Given the description of an element on the screen output the (x, y) to click on. 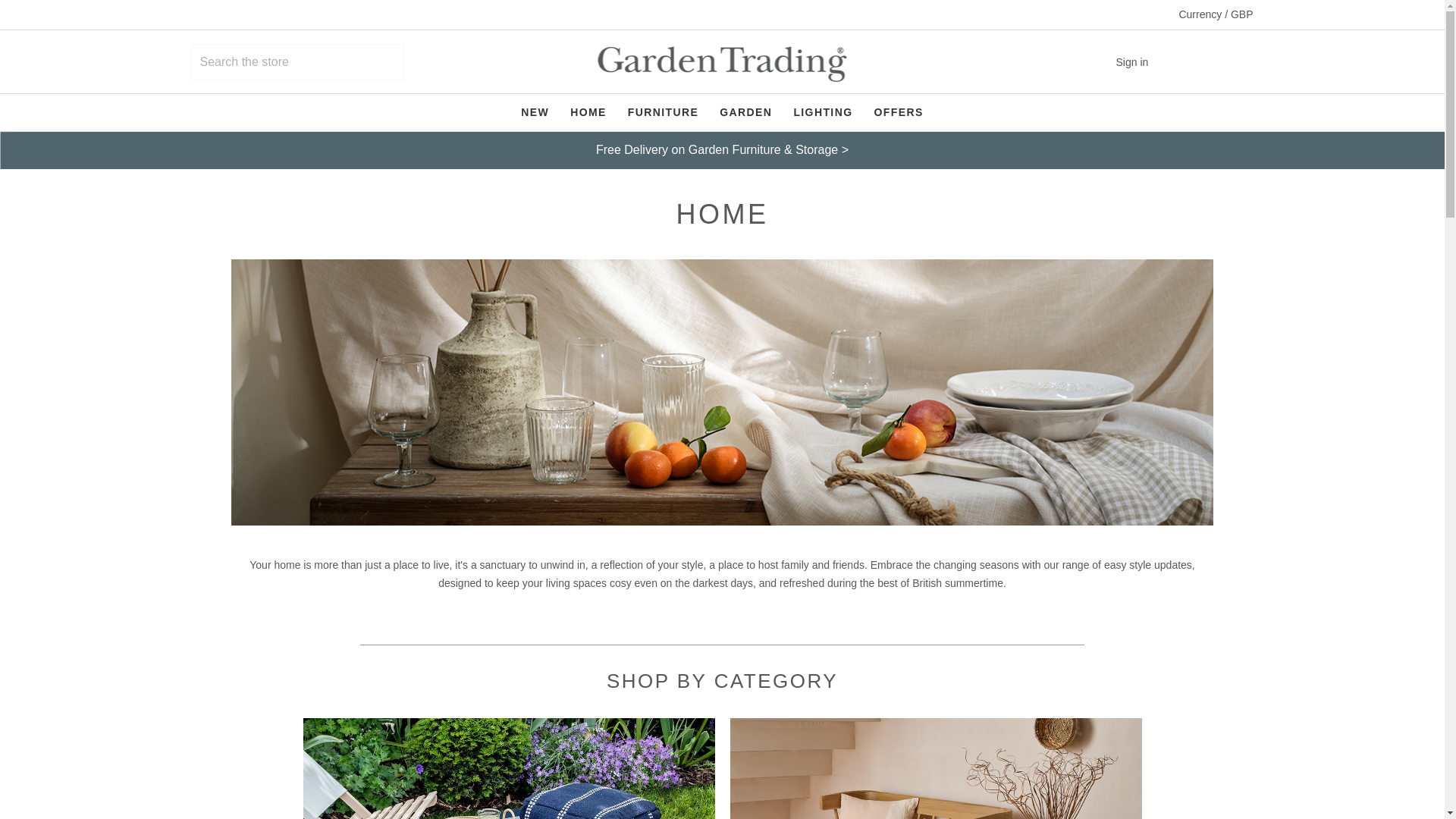
HOME (588, 112)
Sign in (1143, 61)
HOME (588, 112)
NEW (535, 112)
0 (1237, 61)
Garden Trading (721, 63)
NEW (535, 112)
